Given the description of an element on the screen output the (x, y) to click on. 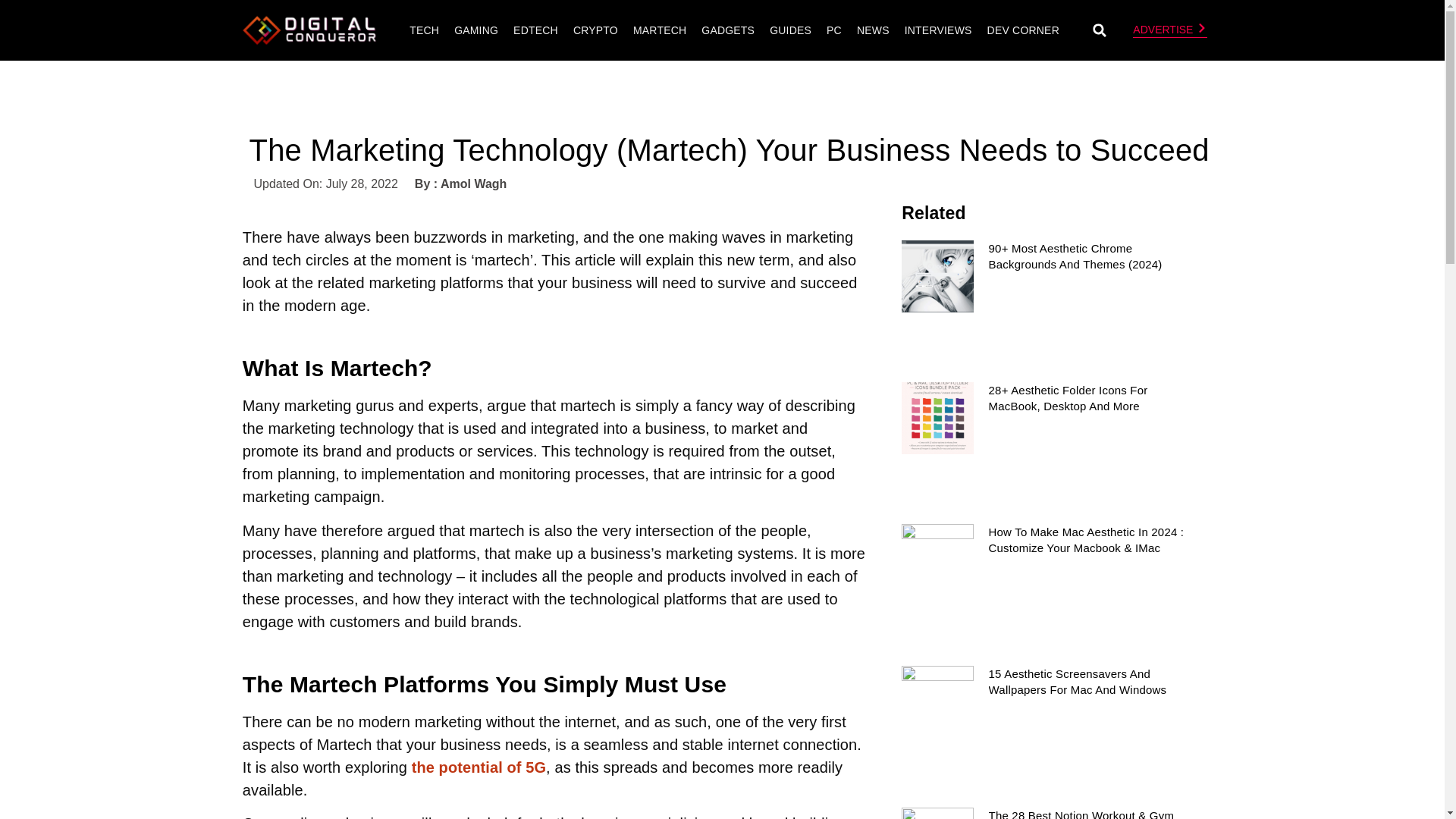
NEWS (873, 30)
GUIDES (790, 30)
CRYPTO (595, 30)
INTERVIEWS (938, 30)
GADGETS (727, 30)
MARTECH (659, 30)
EDTECH (535, 30)
TECH (424, 30)
DEV CORNER (1022, 30)
GAMING (475, 30)
